Given the description of an element on the screen output the (x, y) to click on. 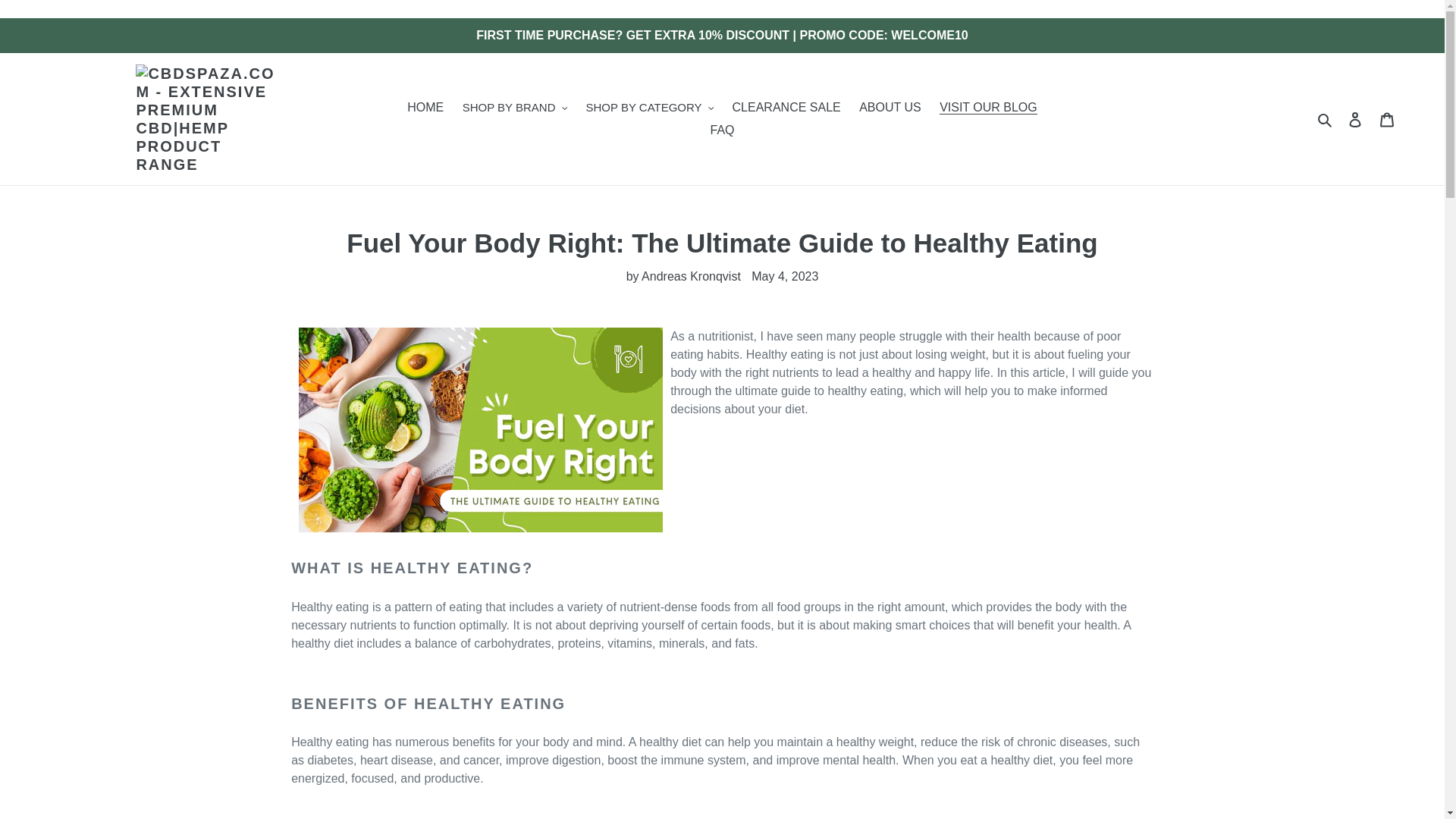
SHOP BY BRAND (514, 107)
HOME (424, 107)
